Given the description of an element on the screen output the (x, y) to click on. 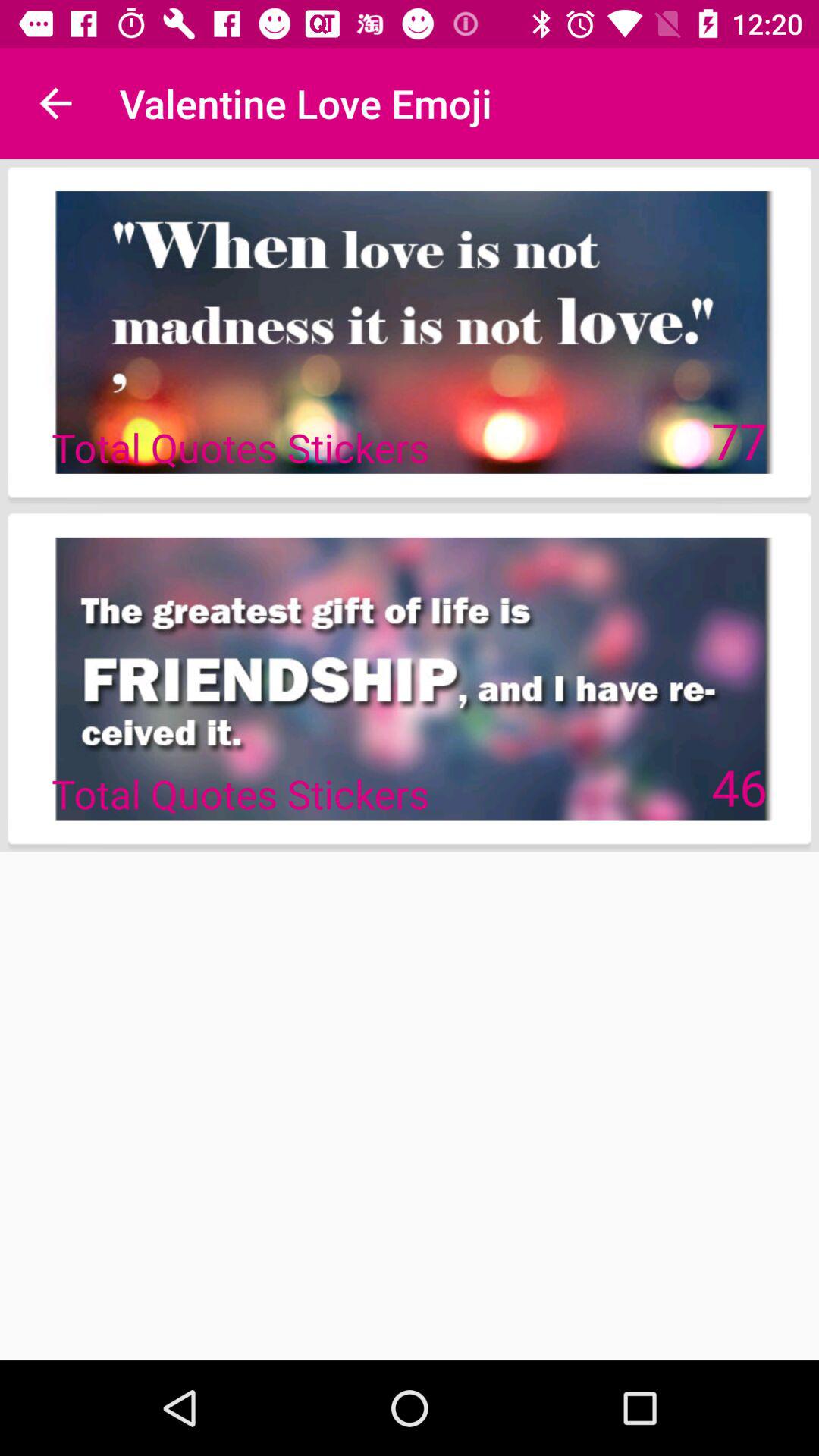
flip to the 46 (739, 786)
